Given the description of an element on the screen output the (x, y) to click on. 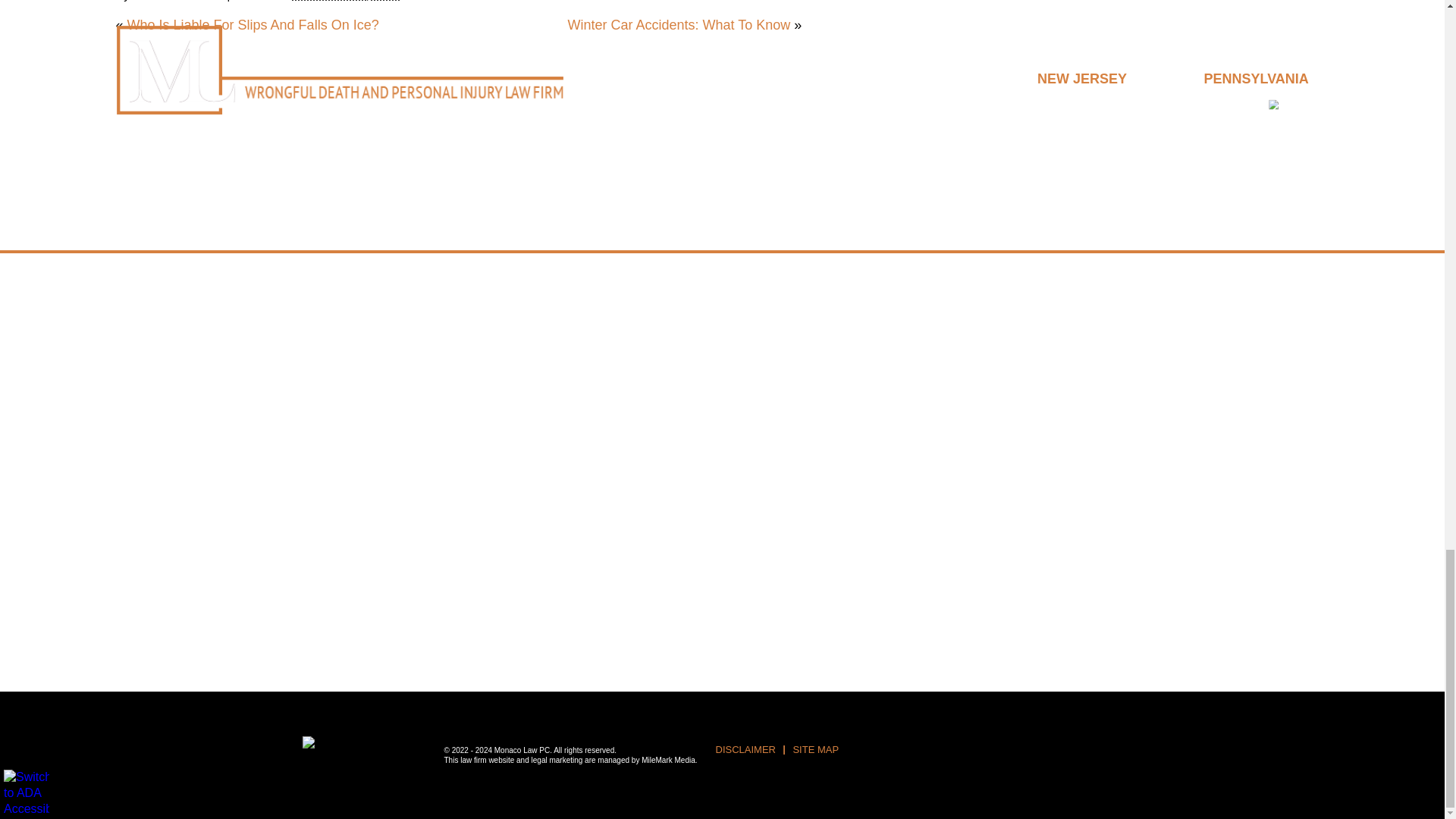
2022-12-22T03:00:11-0800 (345, 0)
